Given the description of an element on the screen output the (x, y) to click on. 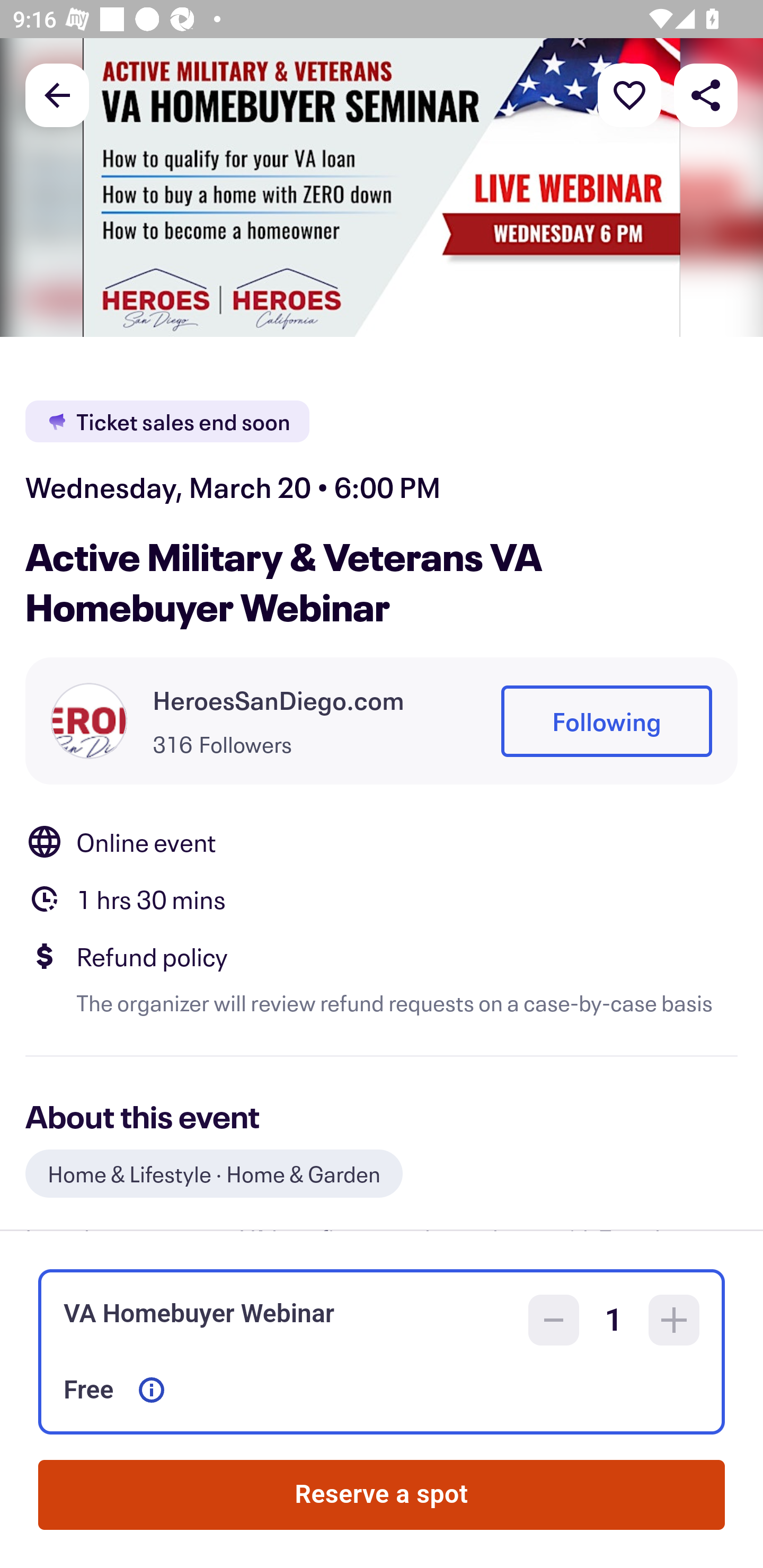
Back (57, 94)
More (629, 94)
Share (705, 94)
HeroesSanDiego.com (278, 699)
Organizer profile picture (89, 720)
Following (606, 720)
Location Online event (381, 840)
Decrease (553, 1320)
Increase (673, 1320)
Show more information (151, 1389)
Reserve a spot (381, 1494)
